Given the description of an element on the screen output the (x, y) to click on. 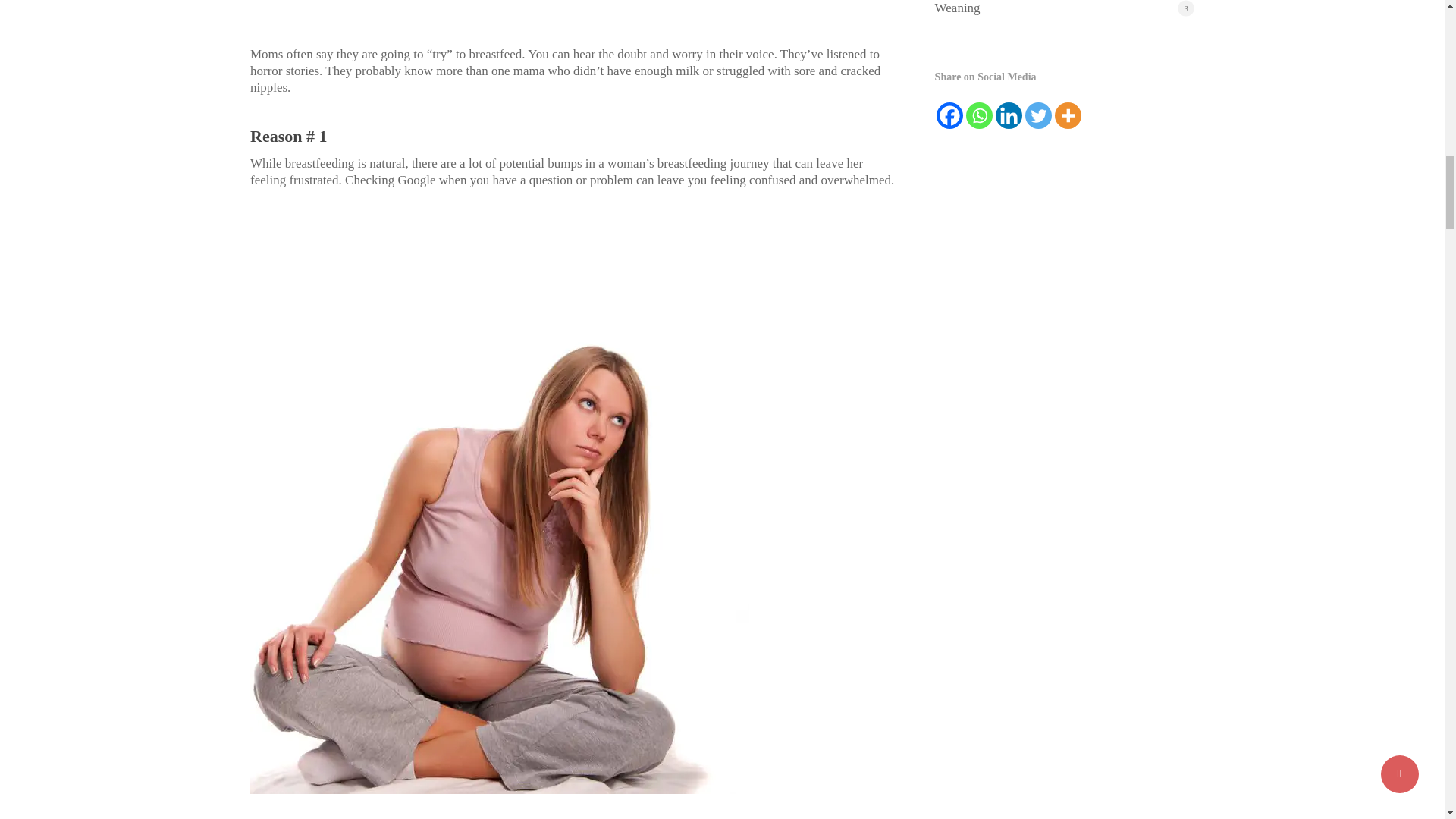
More (1067, 115)
Facebook (949, 115)
Linkedin (1008, 115)
Whatsapp (979, 115)
Twitter (1038, 115)
